Given the description of an element on the screen output the (x, y) to click on. 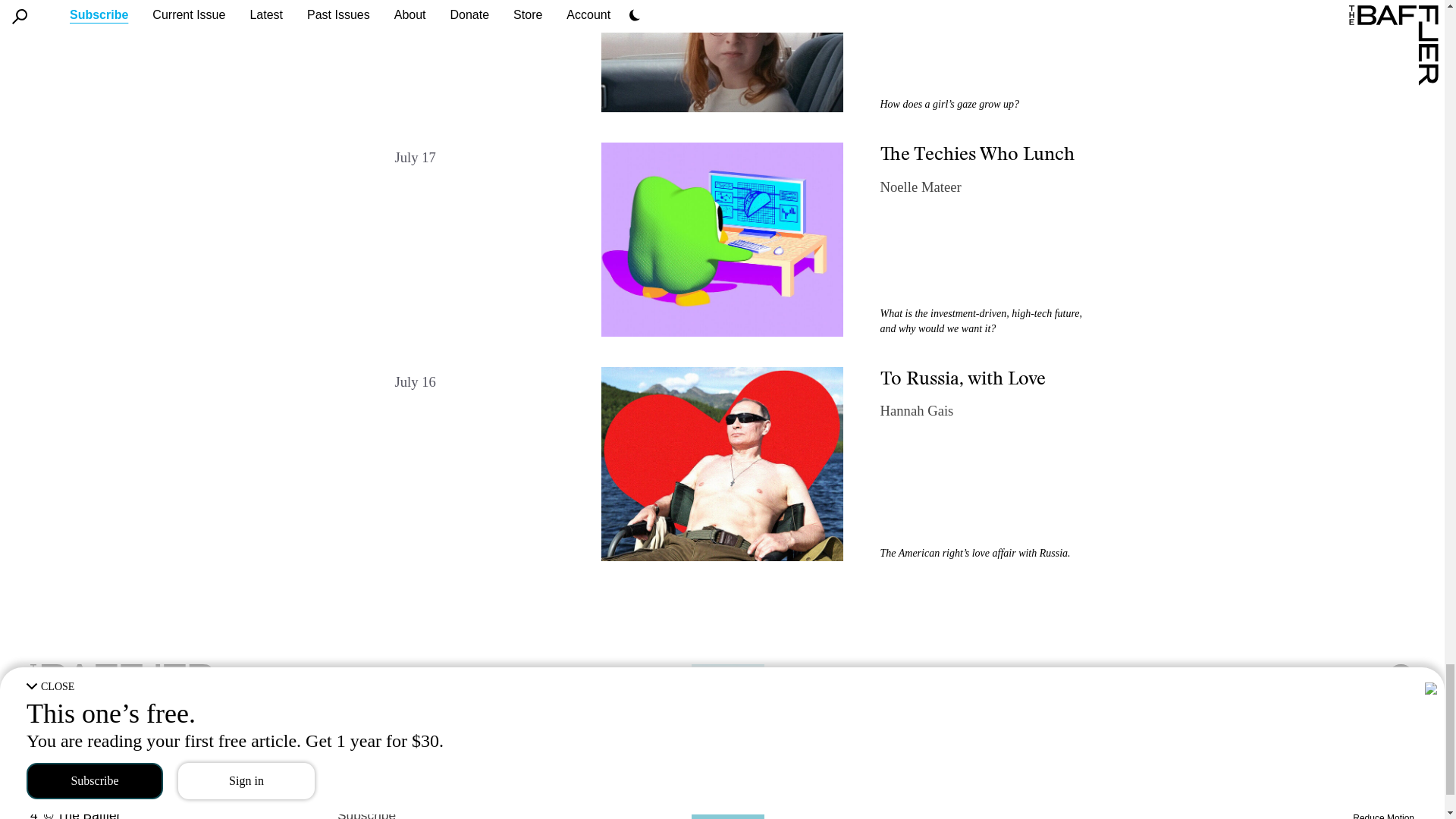
on (1395, 796)
